Given the description of an element on the screen output the (x, y) to click on. 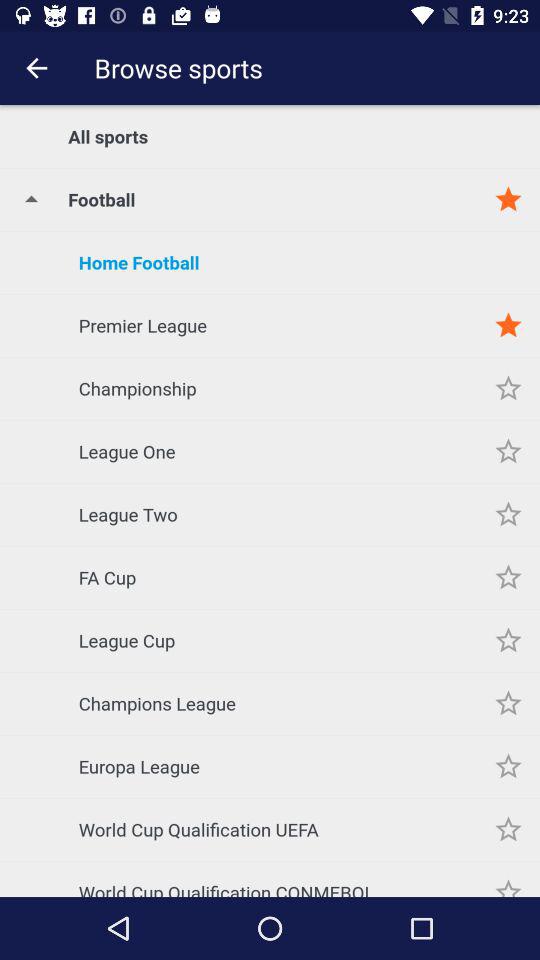
favorite the item (508, 388)
